Given the description of an element on the screen output the (x, y) to click on. 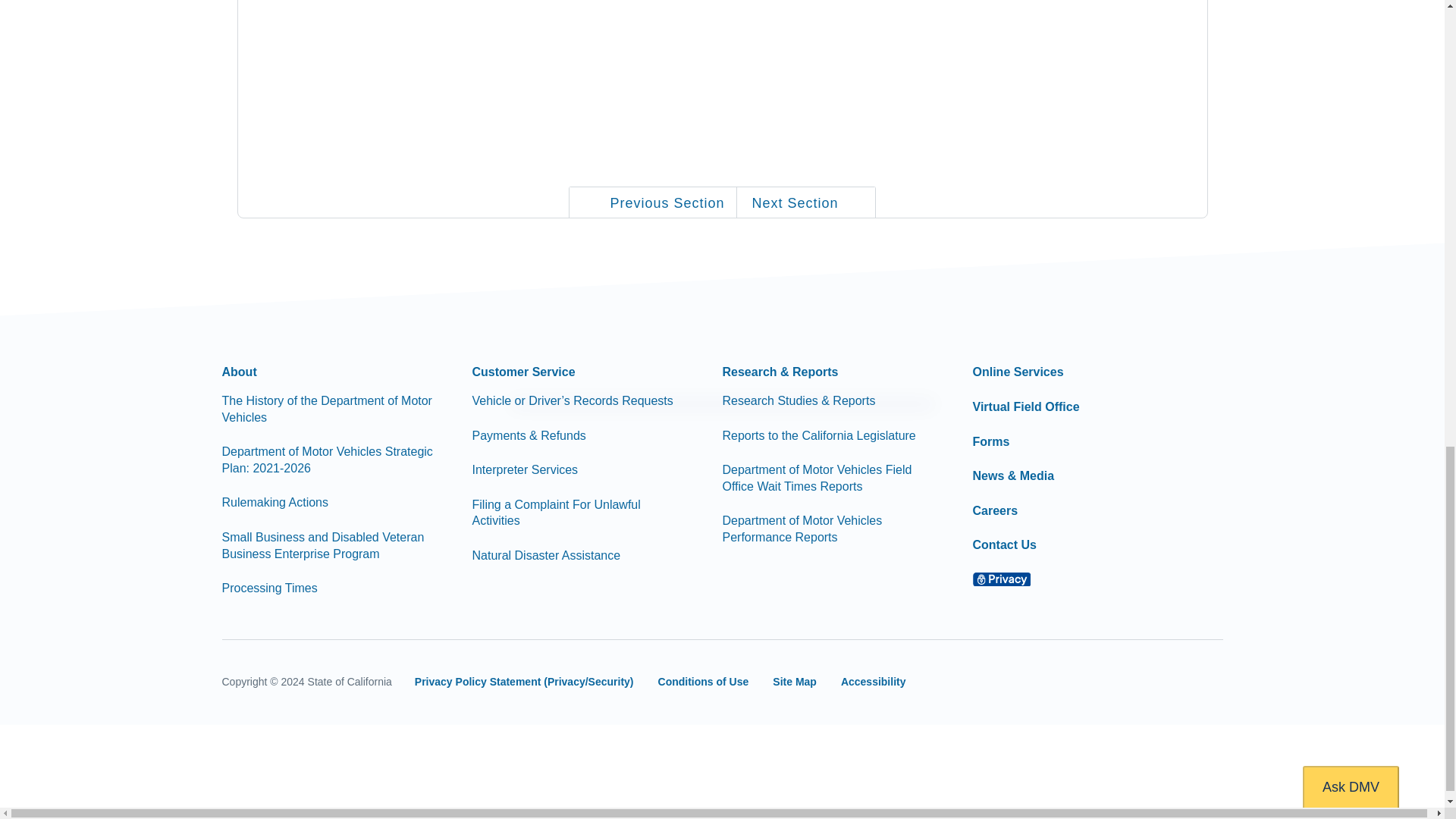
arrow-long-prev (591, 203)
social-outline-youtube icon (1098, 682)
social-outline-x icon (1042, 683)
social-outline-linkedin icon (1207, 682)
social-outline-facebook icon (989, 682)
social-outline-instagram icon (1152, 682)
arrow-long-next (855, 203)
